Given the description of an element on the screen output the (x, y) to click on. 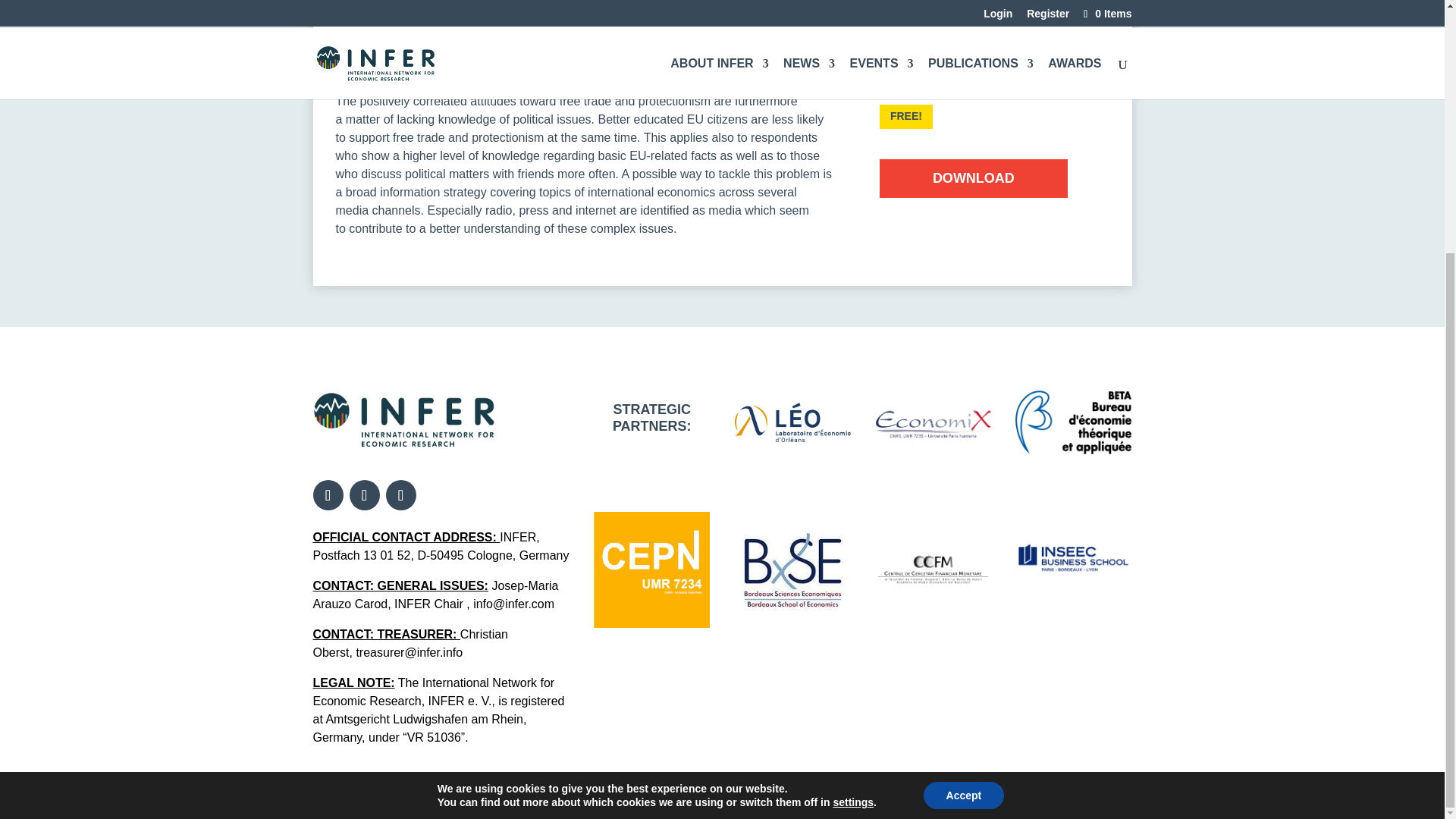
Follow on X (363, 494)
infer-logo (404, 419)
CCFM-high-res (933, 570)
Follow on Facebook (327, 494)
logo CEPN (652, 569)
economix (933, 422)
inseec-business-school-chambery-france (1072, 611)
BSE (792, 569)
Follow on LinkedIn (399, 494)
